Given the description of an element on the screen output the (x, y) to click on. 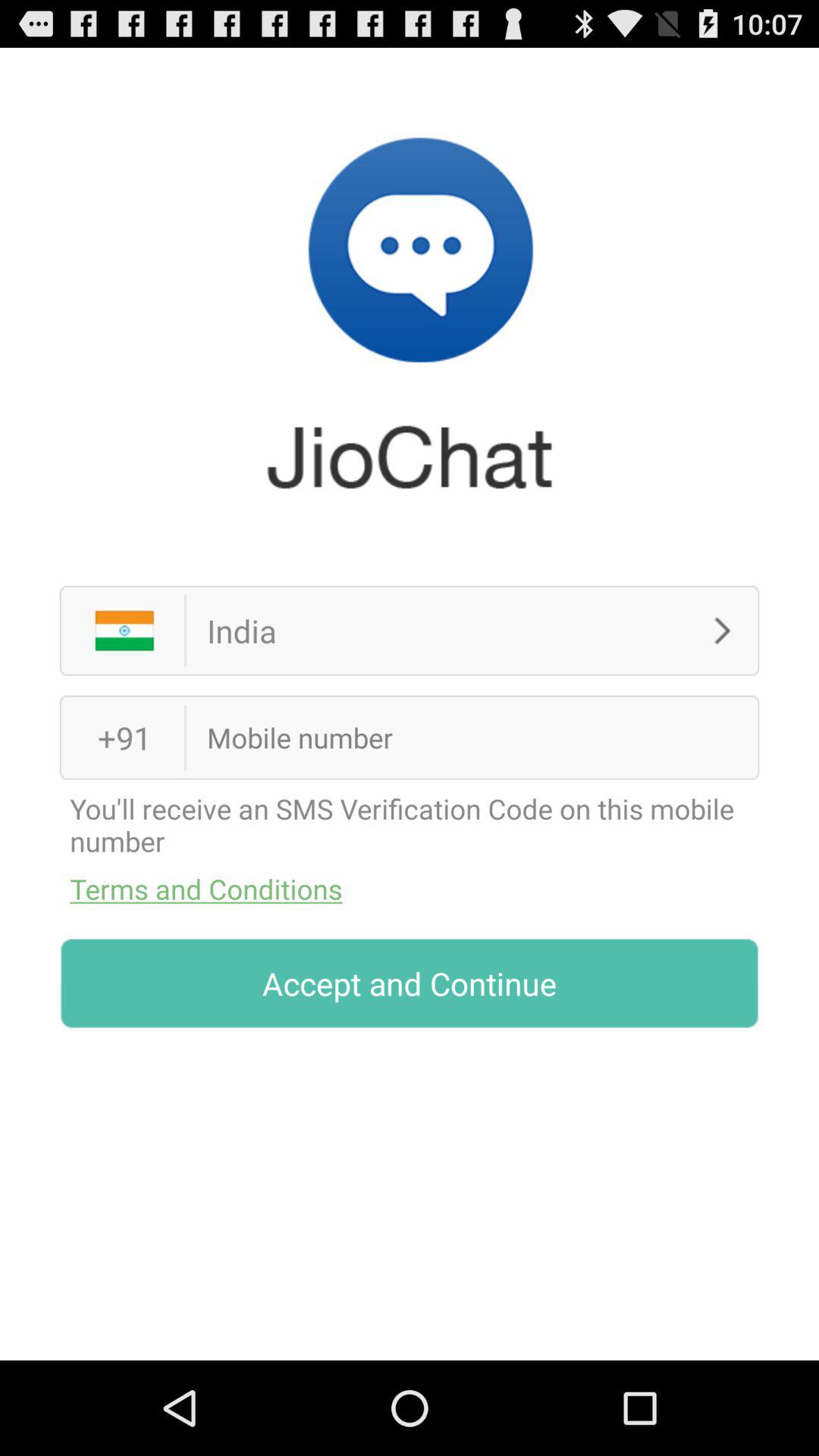
mobile number field (448, 737)
